Given the description of an element on the screen output the (x, y) to click on. 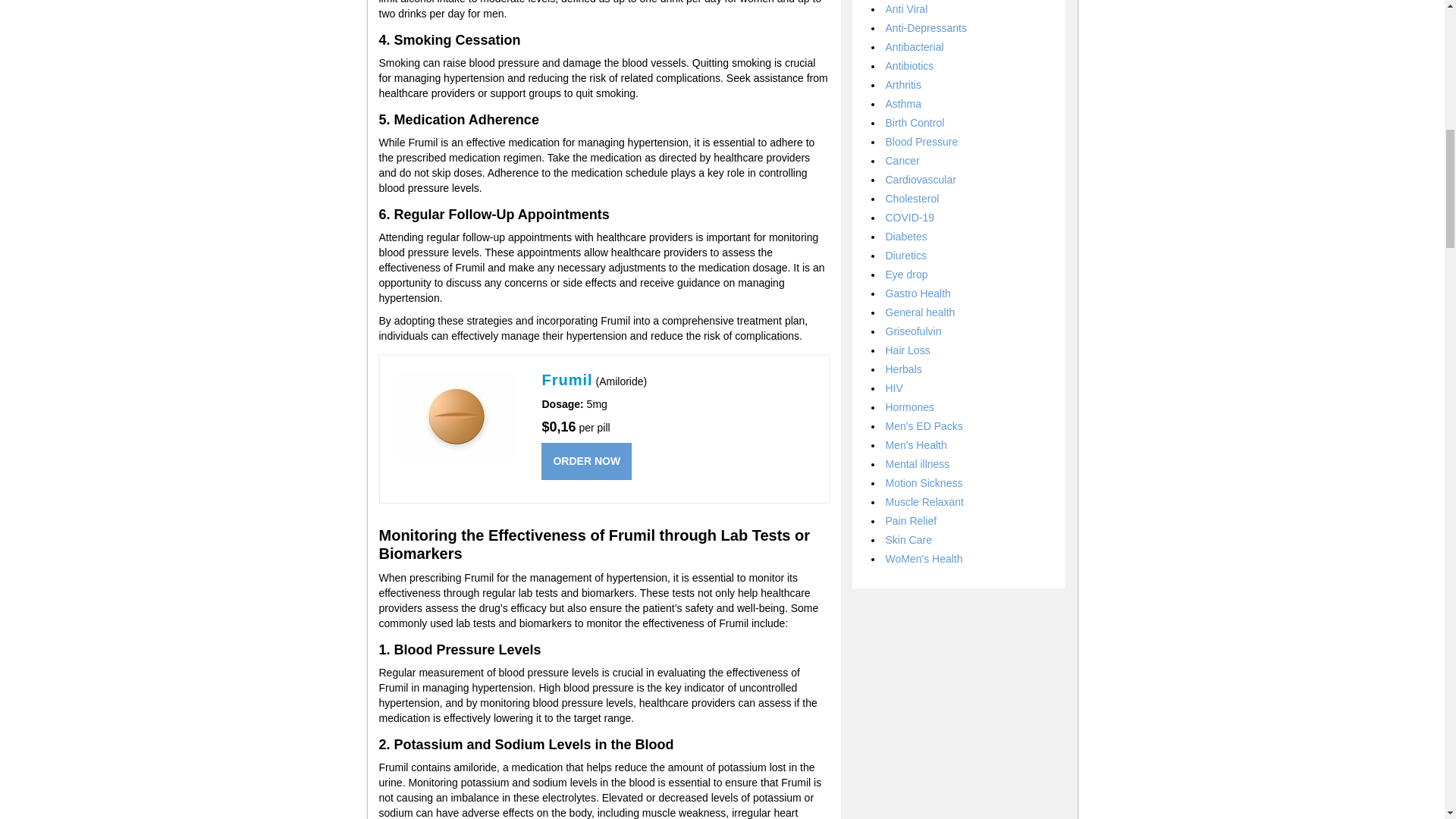
Blood Pressure (921, 141)
ORDER NOW (586, 461)
Anti Viral (906, 9)
Cancer (902, 160)
Antibiotics (909, 65)
Anti-Depressants (925, 28)
Cardiovascular (920, 179)
Birth Control (914, 122)
Asthma (903, 103)
Arthritis (903, 84)
Antibacterial (914, 46)
